Given the description of an element on the screen output the (x, y) to click on. 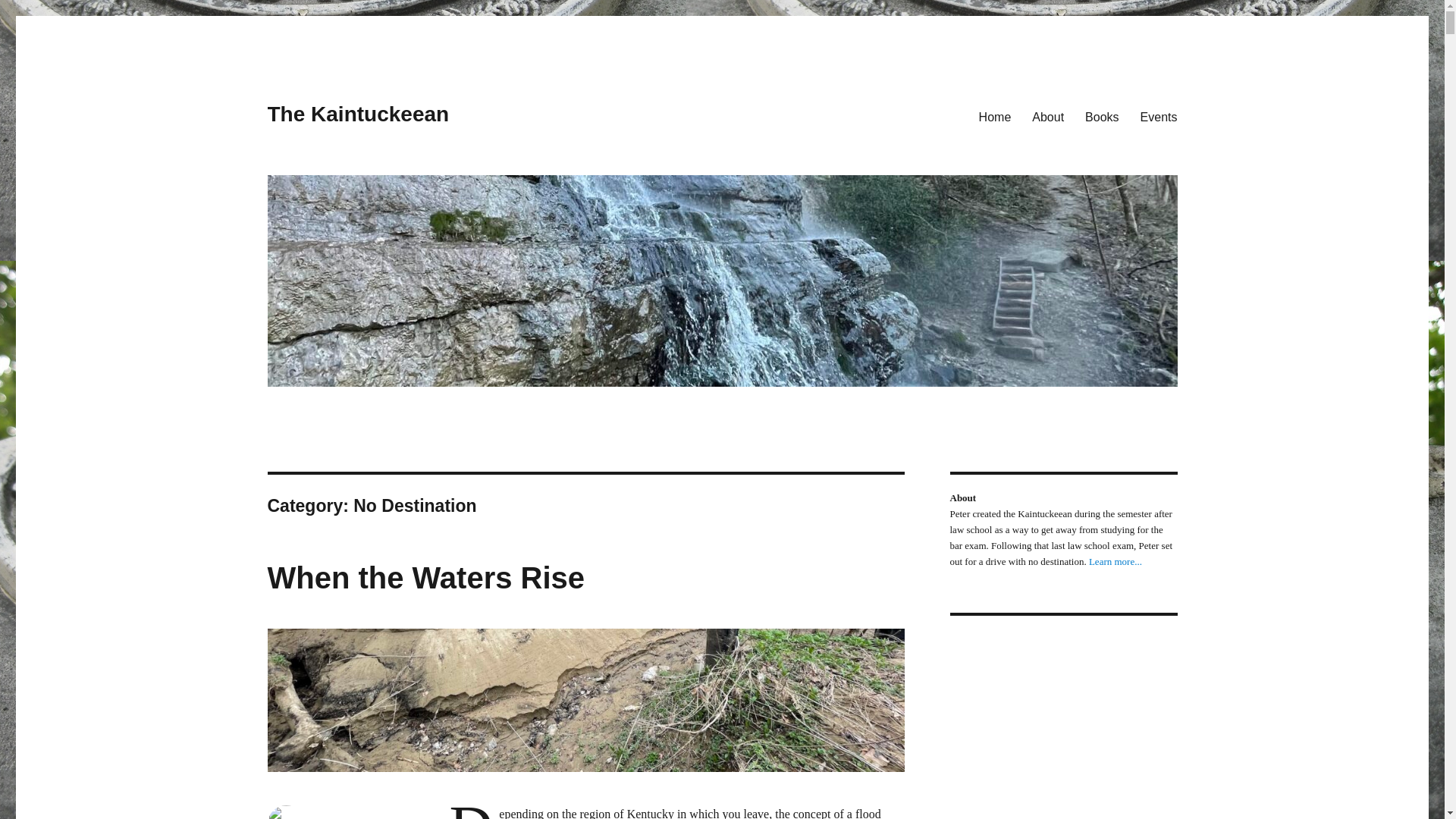
The Kaintuckeean (357, 114)
Events (1158, 116)
About (1048, 116)
Books (1101, 116)
When the Waters Rise (425, 577)
Home (995, 116)
